Given the description of an element on the screen output the (x, y) to click on. 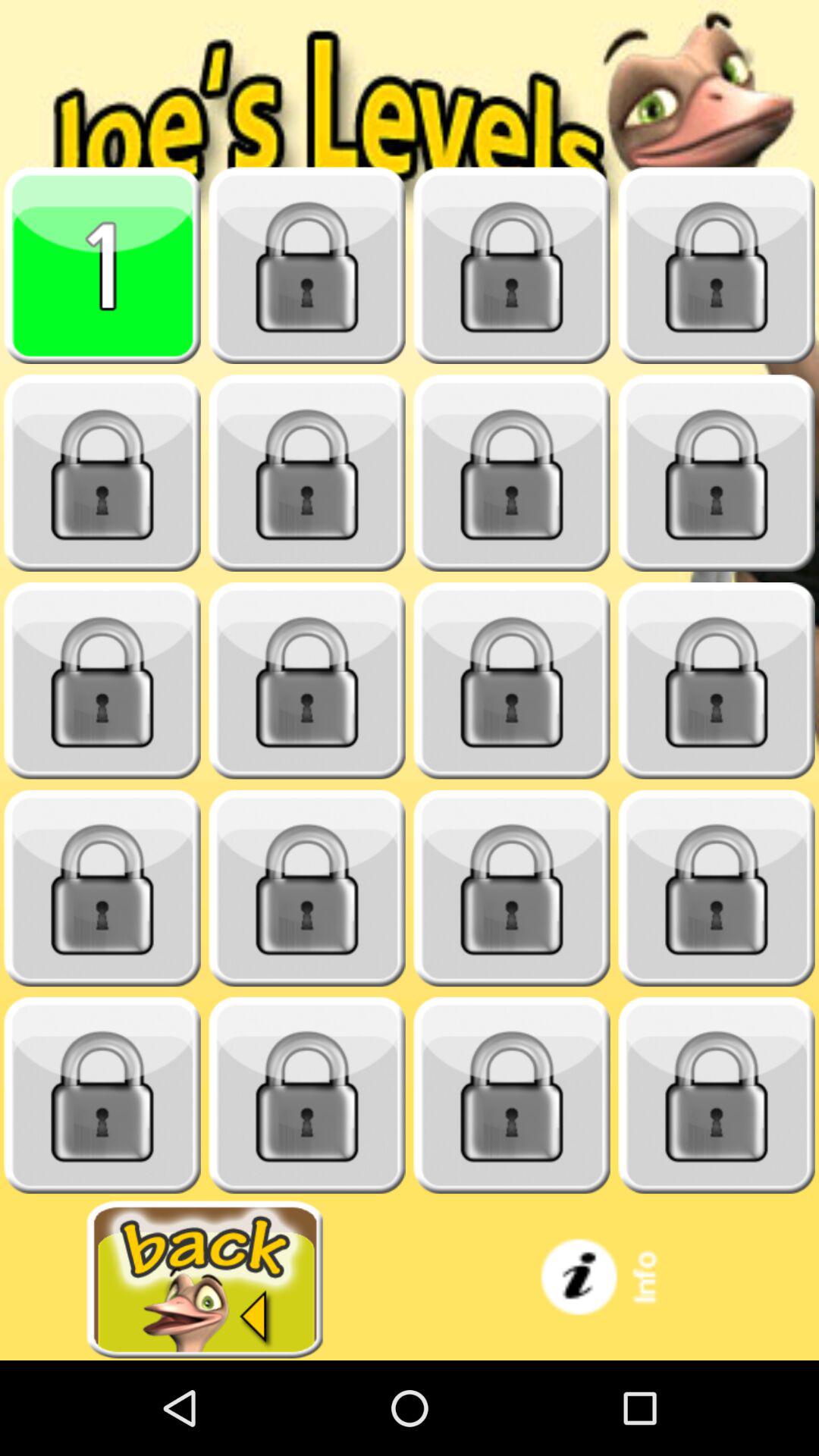
go to advertisements website (204, 1279)
